Given the description of an element on the screen output the (x, y) to click on. 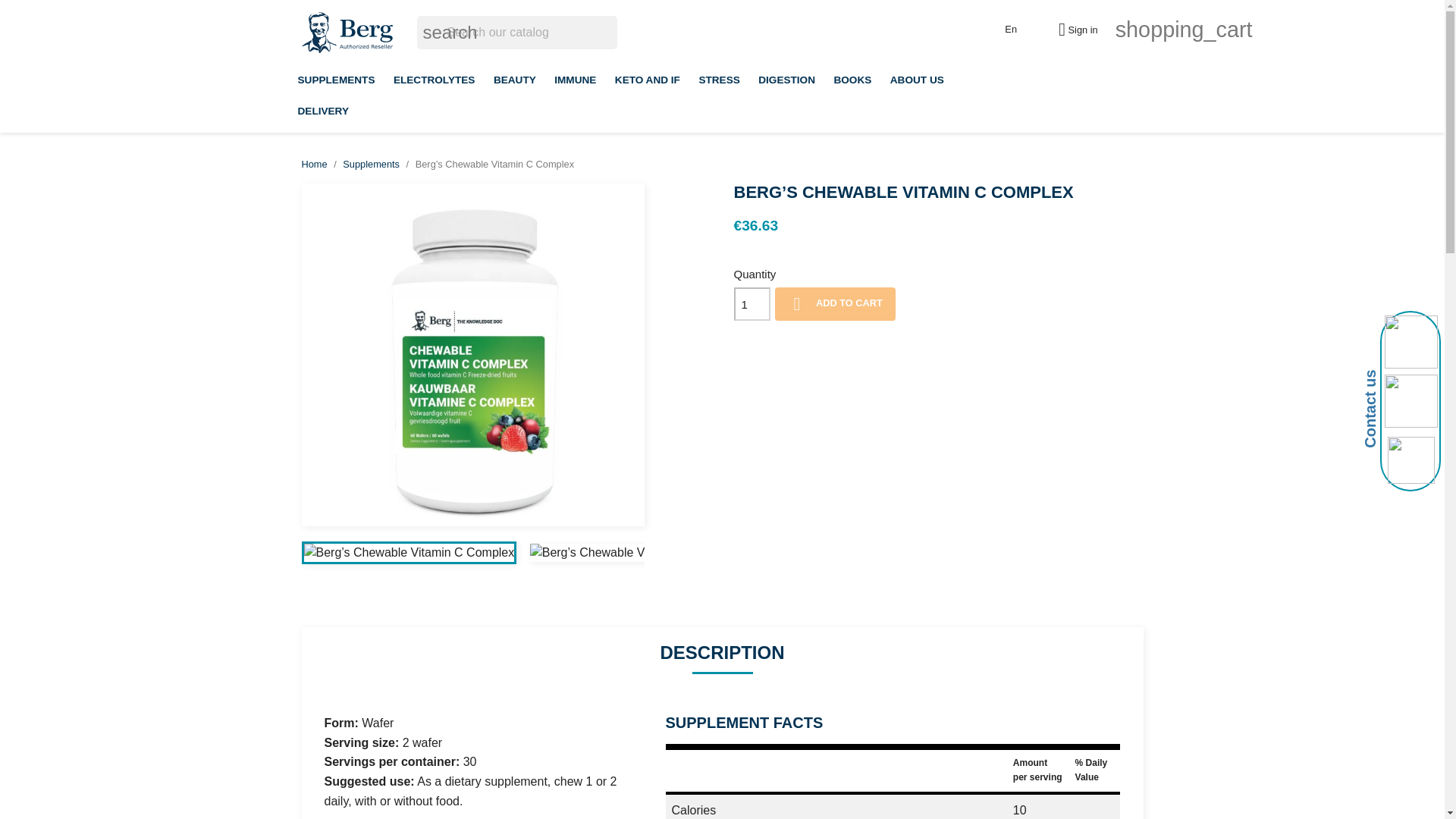
1 (751, 304)
DIGESTION (786, 80)
DELIVERY (322, 111)
SUPPLEMENTS (335, 80)
Home (314, 163)
STRESS (718, 80)
ELECTROLYTES (434, 80)
IMMUNE (575, 80)
Supplements (370, 163)
Log in to your customer account (1071, 30)
